Given the description of an element on the screen output the (x, y) to click on. 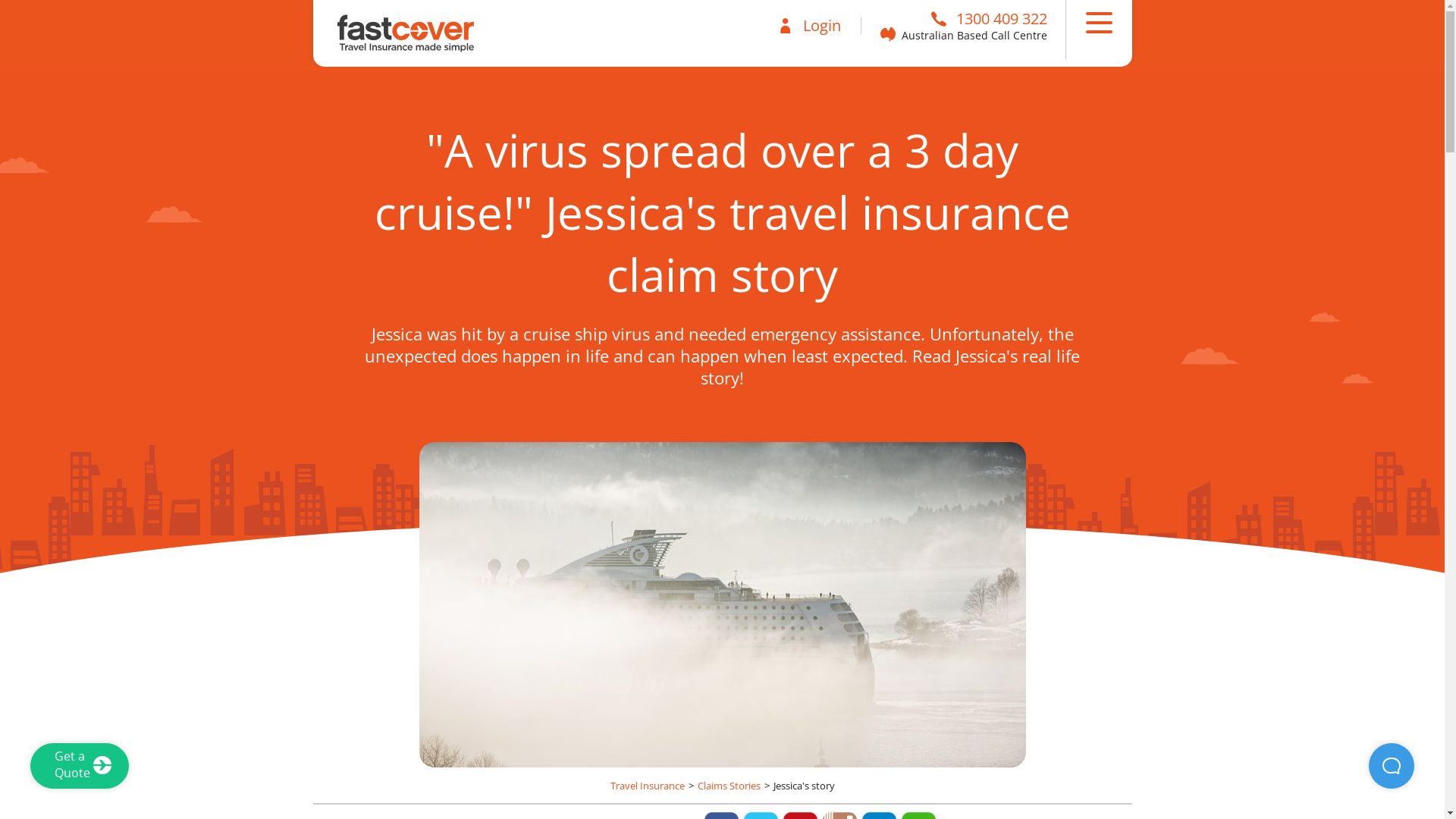
Fast Cover Element type: hover (392, 33)
Get a
Quote Element type: text (79, 765)
Claims Stories Element type: text (728, 785)
Travel Insurance Element type: text (646, 785)
1300 409 322 Element type: text (989, 18)
Login Element type: text (809, 25)
